Given the description of an element on the screen output the (x, y) to click on. 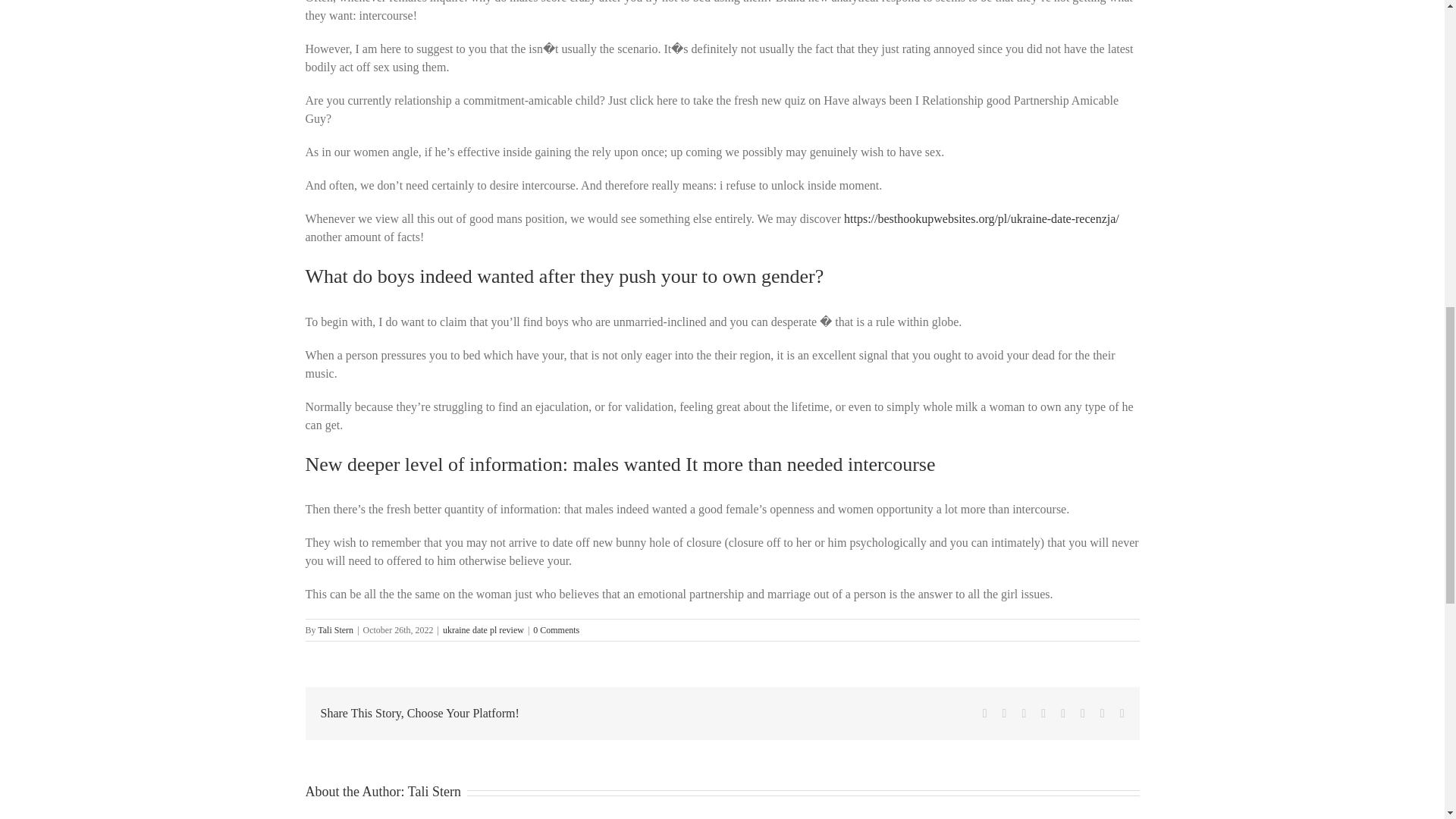
Tali Stern (335, 629)
0 Comments (555, 629)
Posts by Tali Stern (335, 629)
Posts by Tali Stern (434, 791)
ukraine date pl review (483, 629)
